Given the description of an element on the screen output the (x, y) to click on. 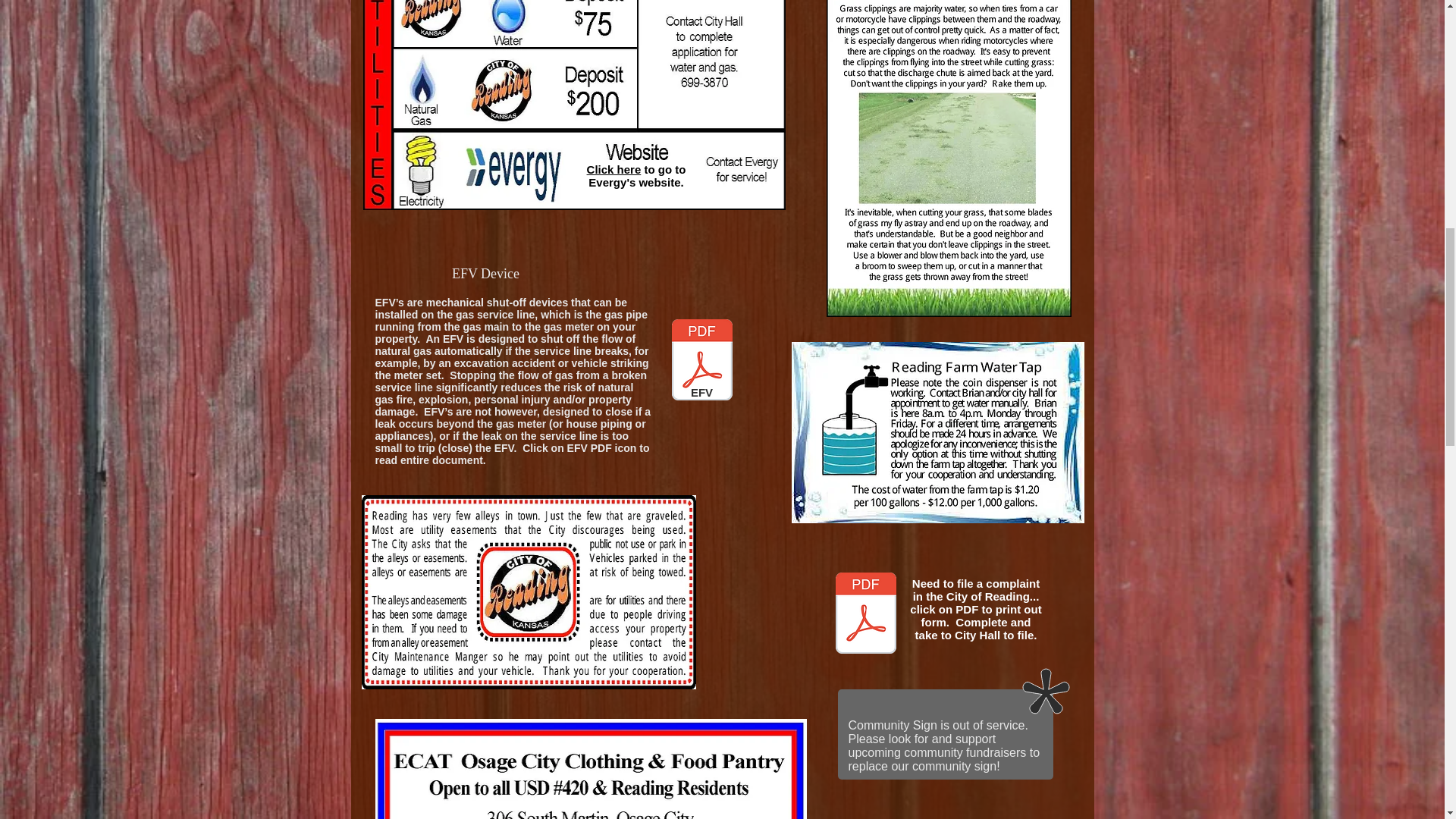
utilities (573, 104)
ECAT (590, 769)
water tap (938, 432)
alleys (528, 592)
